Given the description of an element on the screen output the (x, y) to click on. 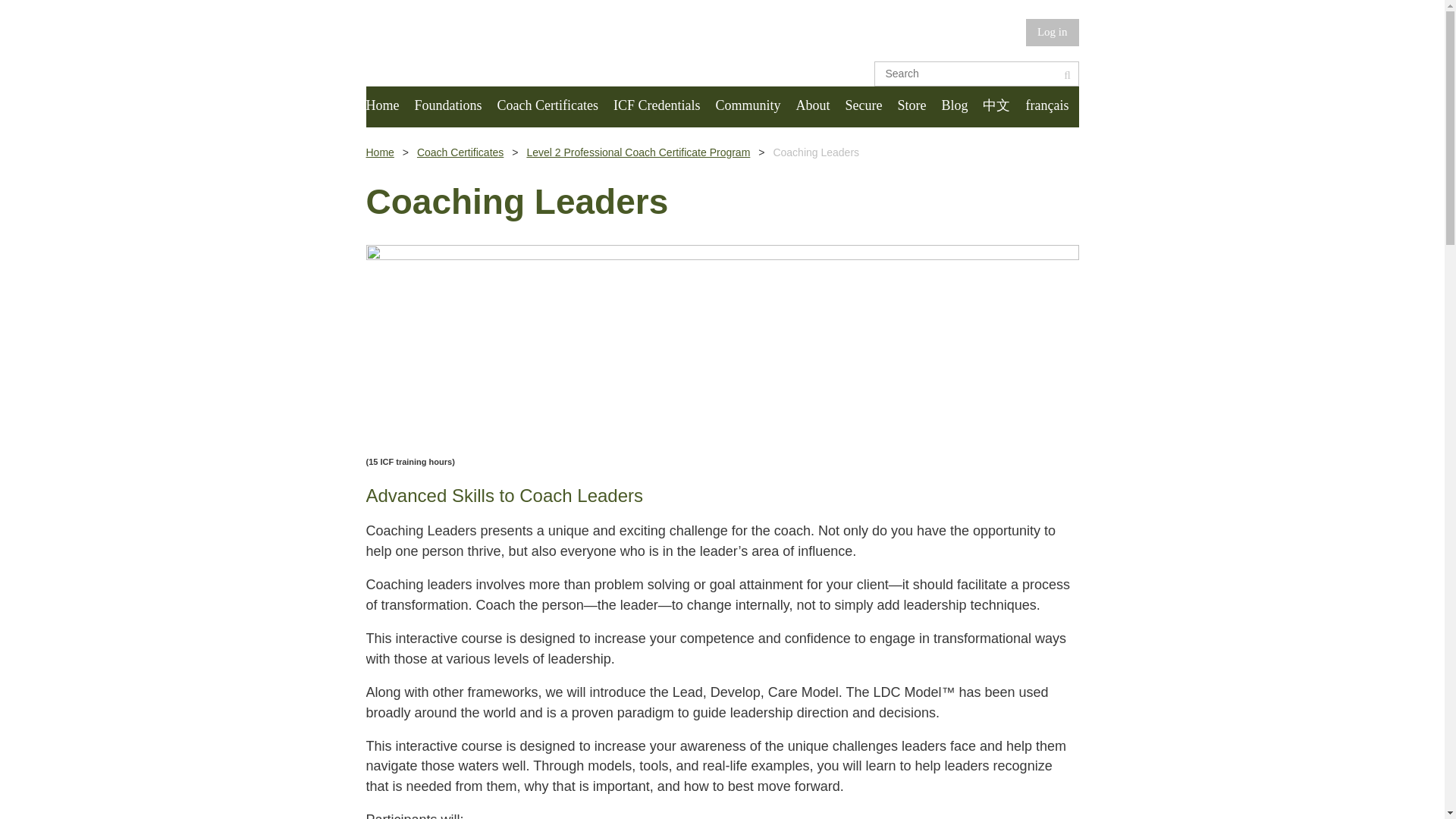
Coach Certificates (554, 106)
Community (754, 106)
Home (389, 106)
Store (918, 106)
Blog (961, 106)
Foundations (454, 106)
Log in (1052, 31)
Foundations (454, 106)
About (819, 106)
Coach Certificates (554, 106)
Home (389, 106)
ICF Credentials (664, 106)
Secure (870, 106)
